Given the description of an element on the screen output the (x, y) to click on. 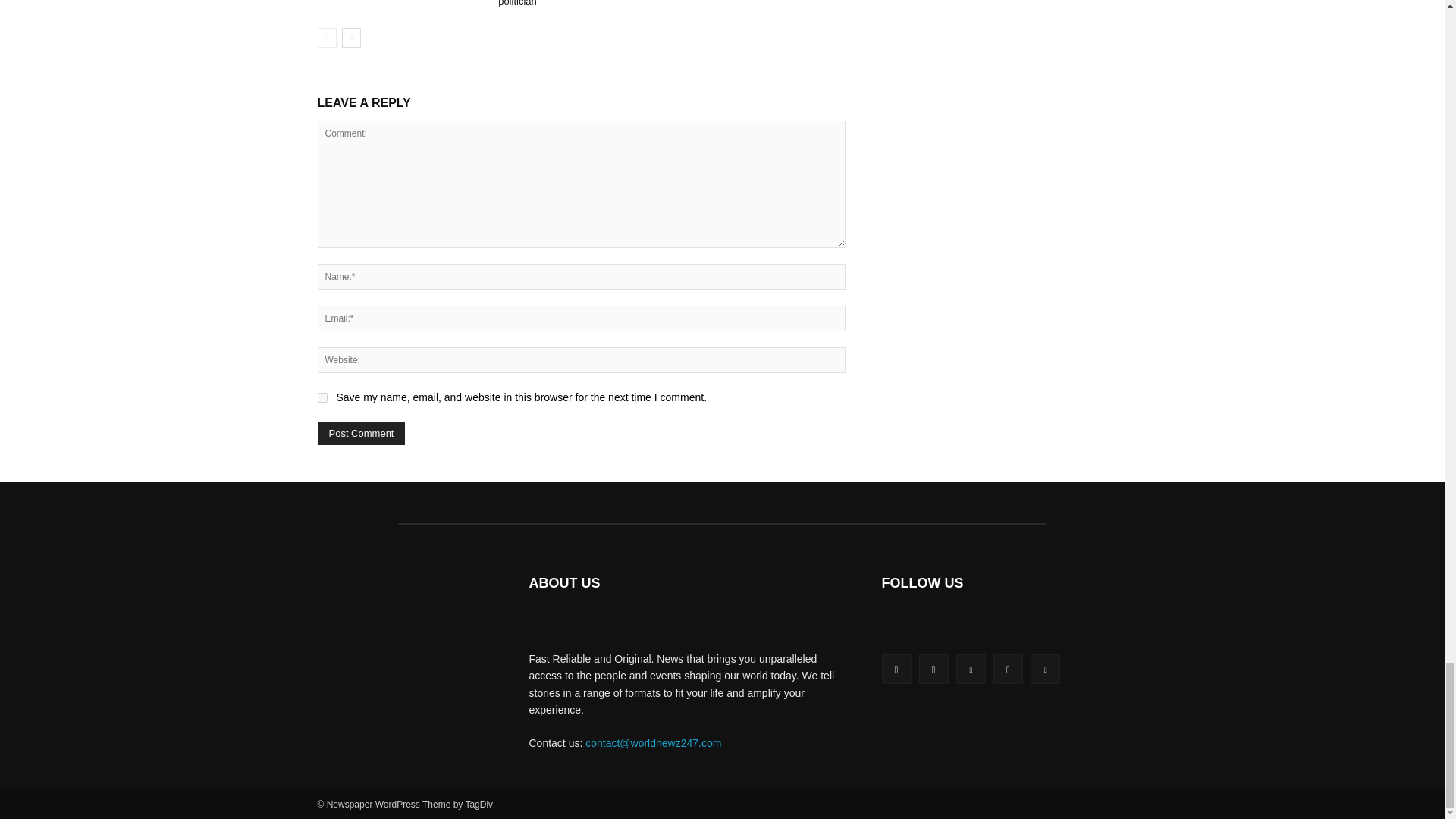
yes (321, 397)
Post Comment (360, 433)
